Given the description of an element on the screen output the (x, y) to click on. 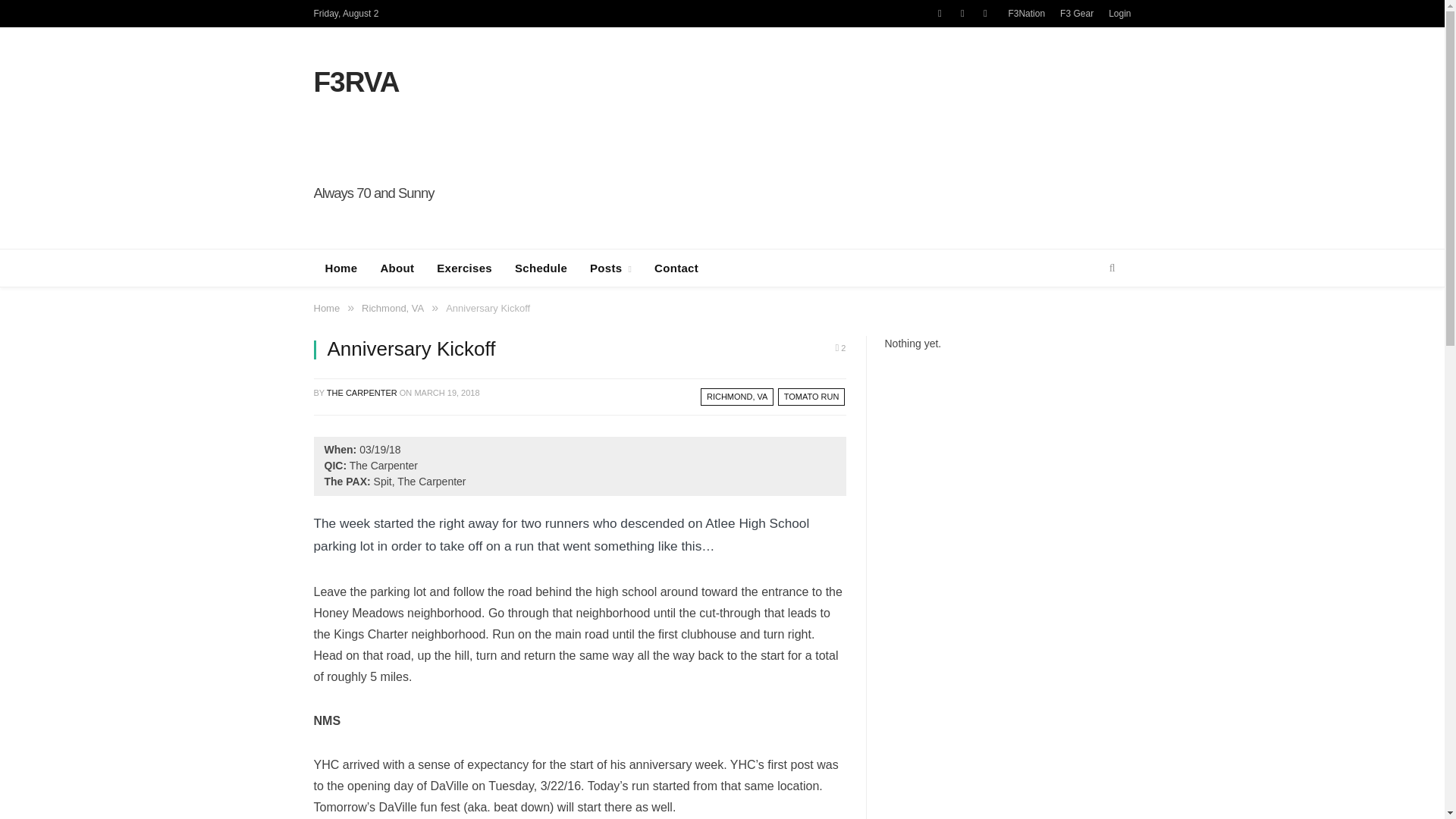
RSS (939, 13)
Posts by The Carpenter (361, 392)
Posts (610, 267)
Schedule (540, 267)
Contact (676, 267)
F3Nation (1026, 13)
Login (1119, 13)
Twitter (984, 13)
Facebook (962, 13)
THE CARPENTER (361, 392)
2018-03-19 (446, 392)
About (396, 267)
F3RVA (356, 81)
Home (341, 267)
F3RVA (356, 81)
